Given the description of an element on the screen output the (x, y) to click on. 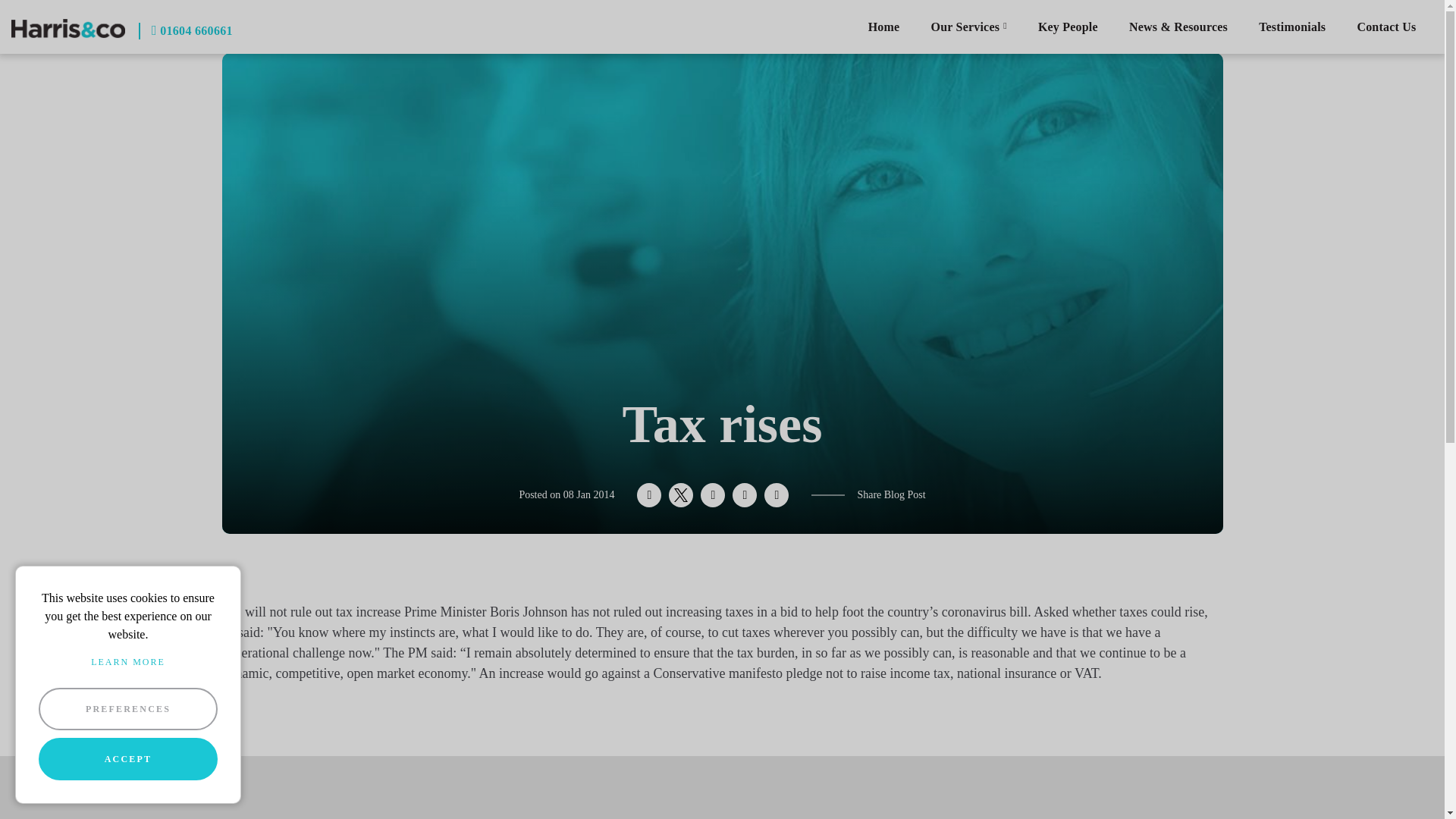
Home (883, 27)
WhatsApp (744, 494)
Telegram (776, 494)
Contact Us (1385, 27)
01604 660661 (185, 30)
VK (712, 494)
Twitter (680, 494)
Key People (1067, 27)
Facebook (649, 494)
Testimonials (1291, 27)
